Given the description of an element on the screen output the (x, y) to click on. 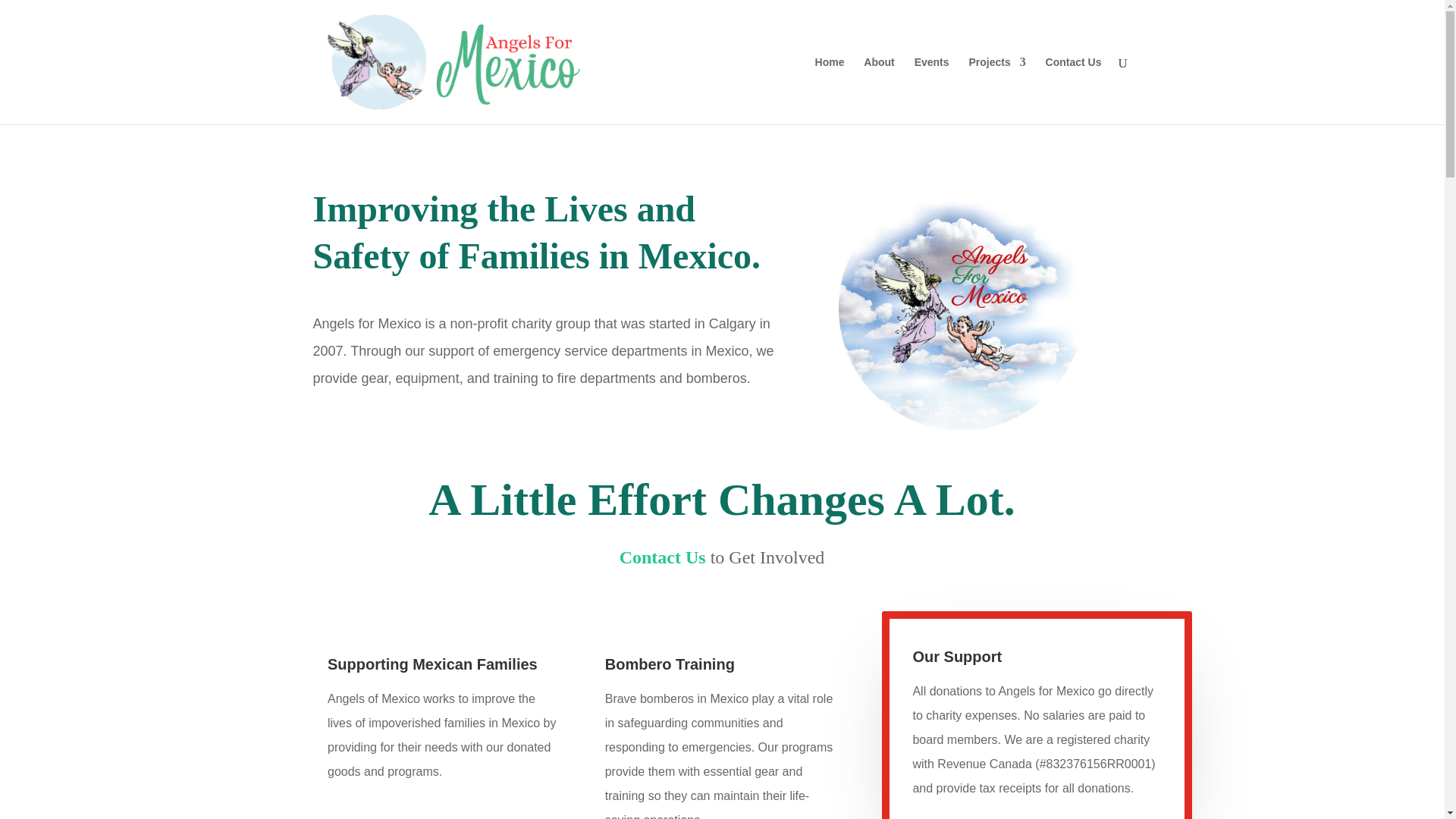
Contact Us (665, 557)
logofi (959, 307)
